Given the description of an element on the screen output the (x, y) to click on. 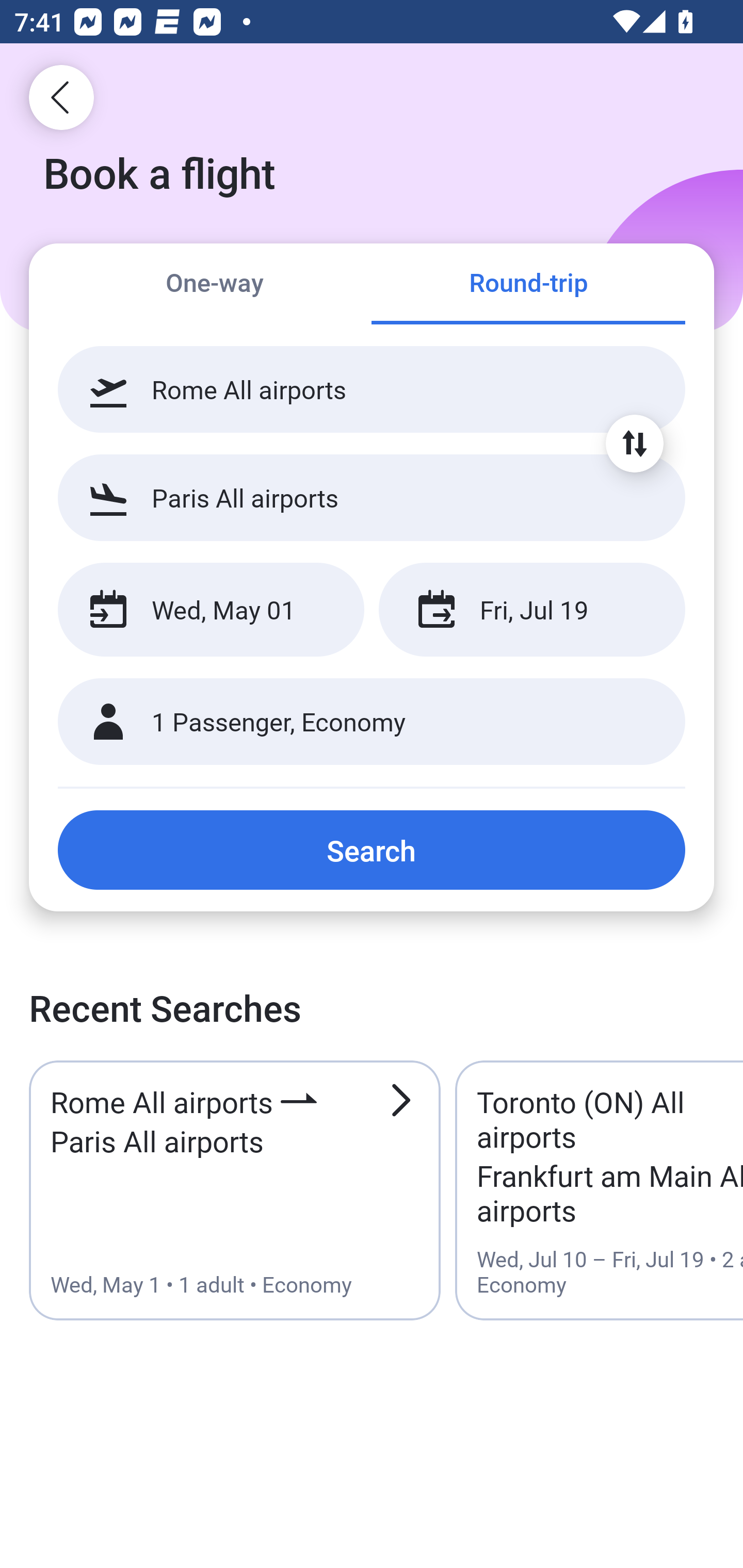
One-way (214, 284)
Rome All airports (371, 389)
Paris All airports (371, 497)
Wed, May 01 (210, 609)
Fri, Jul 19 (531, 609)
1 Passenger, Economy (371, 721)
Search (371, 849)
